Given the description of an element on the screen output the (x, y) to click on. 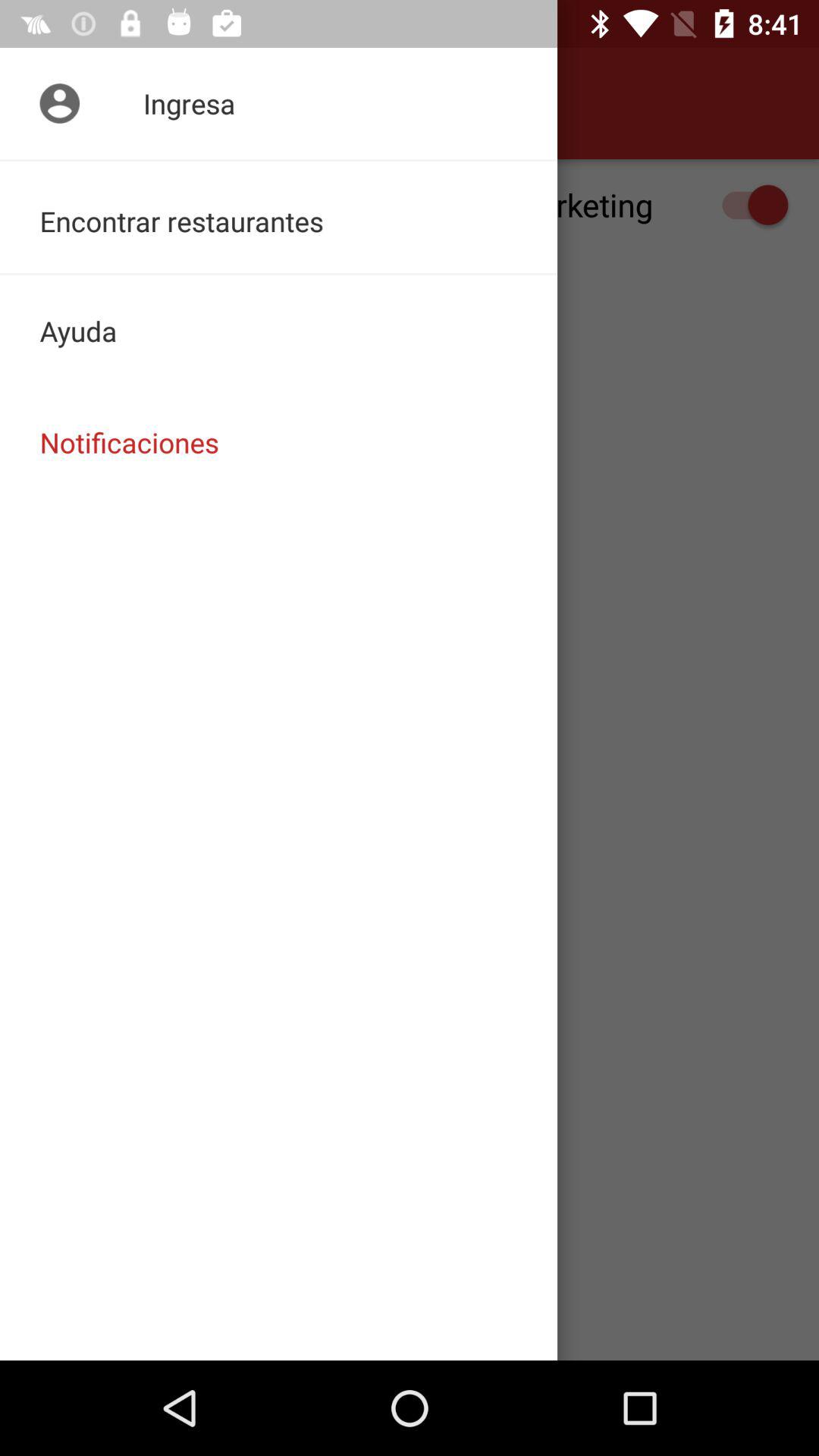
tap the icon above the notificaciones icon (278, 330)
